Given the description of an element on the screen output the (x, y) to click on. 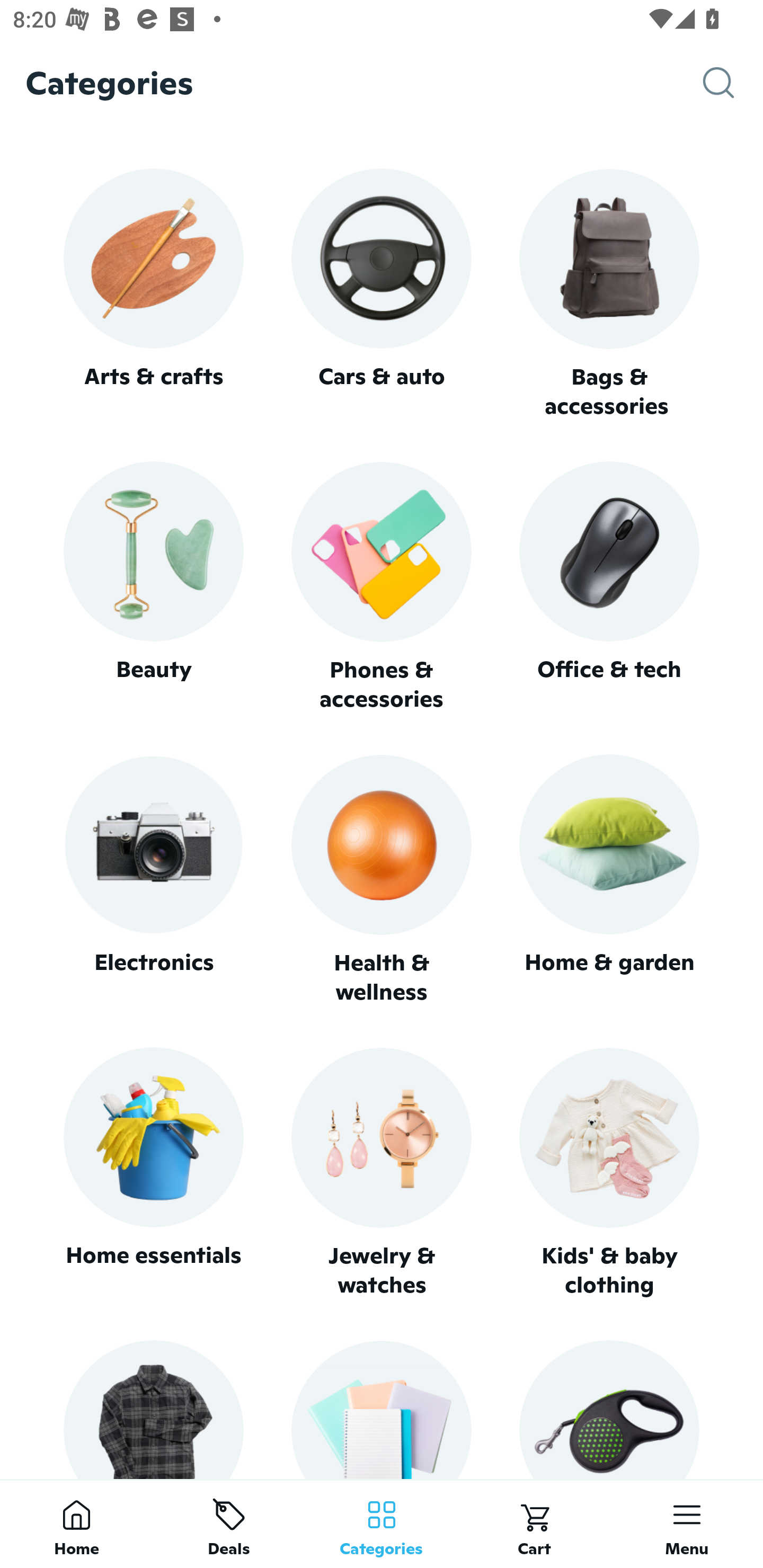
Search (732, 82)
Arts & crafts (153, 293)
Cars & auto (381, 293)
Bags & accessories  (609, 294)
Beauty (153, 586)
Office & tech (609, 586)
Phones & accessories (381, 587)
Electronics (153, 880)
Home & garden (609, 880)
Health & wellness (381, 880)
Home essentials (153, 1172)
Jewelry & watches (381, 1172)
Kids' & baby clothing (609, 1172)
Men's clothing (153, 1409)
Pet supplies (609, 1409)
Office & school supplies (381, 1409)
Home (76, 1523)
Deals (228, 1523)
Categories (381, 1523)
Cart (533, 1523)
Menu (686, 1523)
